Given the description of an element on the screen output the (x, y) to click on. 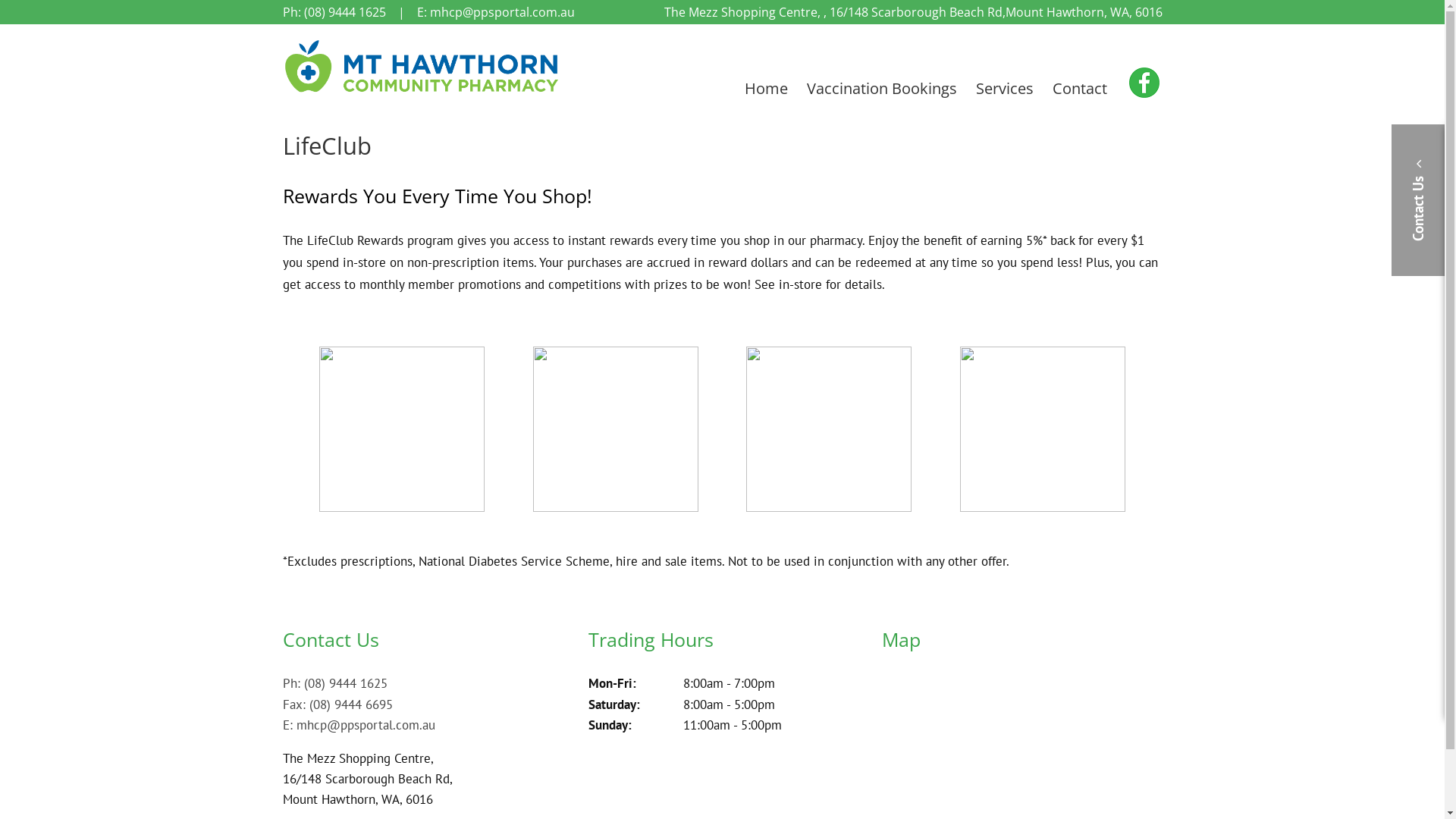
Contact Element type: text (1079, 88)
Vaccination Bookings Element type: text (881, 88)
Ph: (08) 9444 1625 Element type: text (334, 682)
E: mhcp@ppsportal.com.au Element type: text (495, 11)
Like us on Facebook Element type: hover (1140, 83)
Ph: (08) 9444 1625 Element type: text (333, 11)
E: mhcp@ppsportal.com.au Element type: text (358, 724)
Home Element type: text (766, 88)
home Element type: hover (422, 91)
Fax: (08) 9444 6695 Element type: text (337, 704)
Services Element type: text (1004, 88)
